Given the description of an element on the screen output the (x, y) to click on. 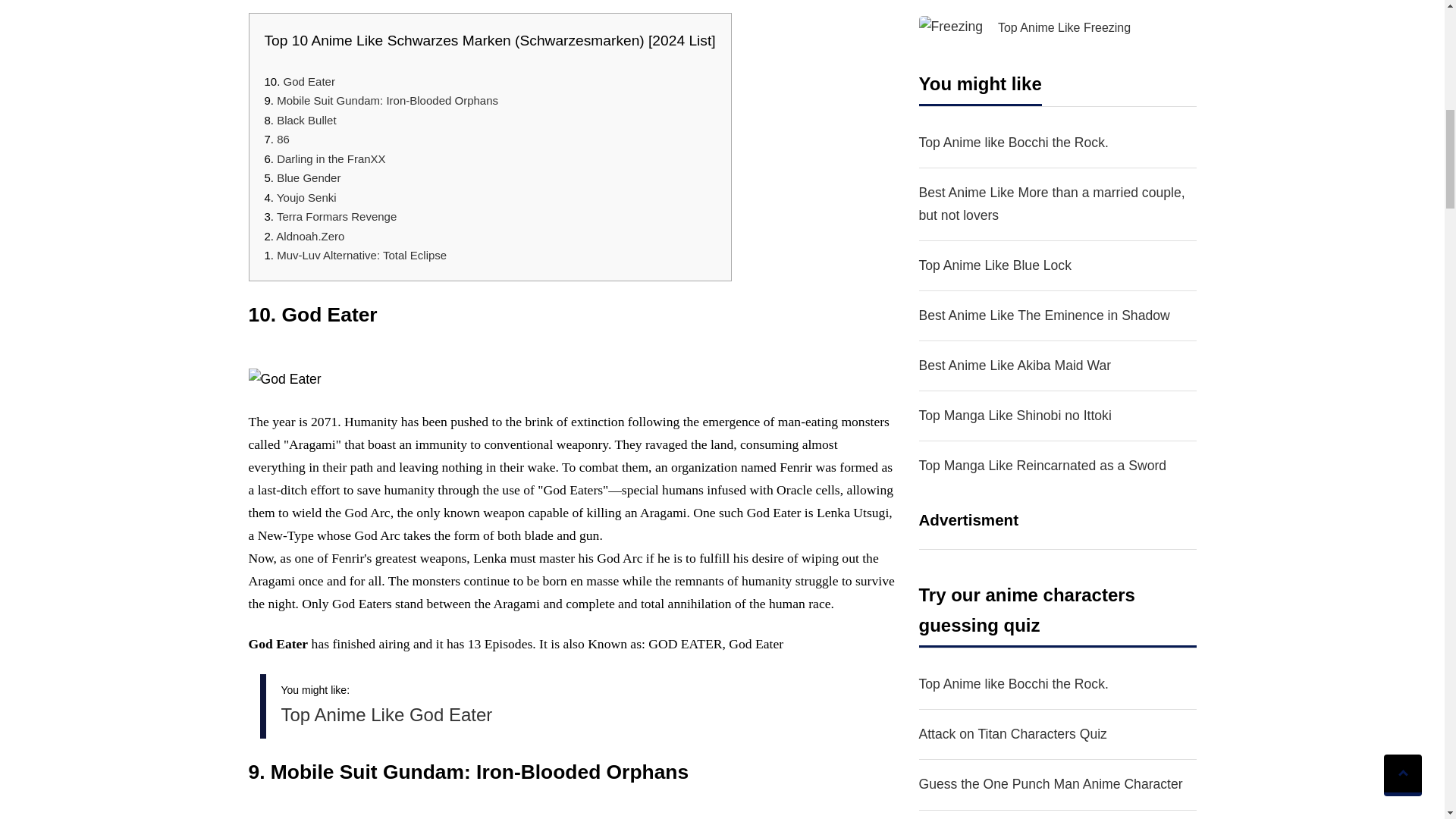
Aldnoah.Zero (309, 236)
Terra Formars Revenge (336, 215)
Black Bullet (306, 119)
Muv-Luv Alternative: Total Eclipse (361, 254)
Mobile Suit Gundam: Iron-Blooded Orphans (386, 100)
Blue Gender (308, 177)
Youjo Senki (306, 196)
86 (282, 138)
Darling in the FranXX (330, 158)
God Eater (308, 81)
